Given the description of an element on the screen output the (x, y) to click on. 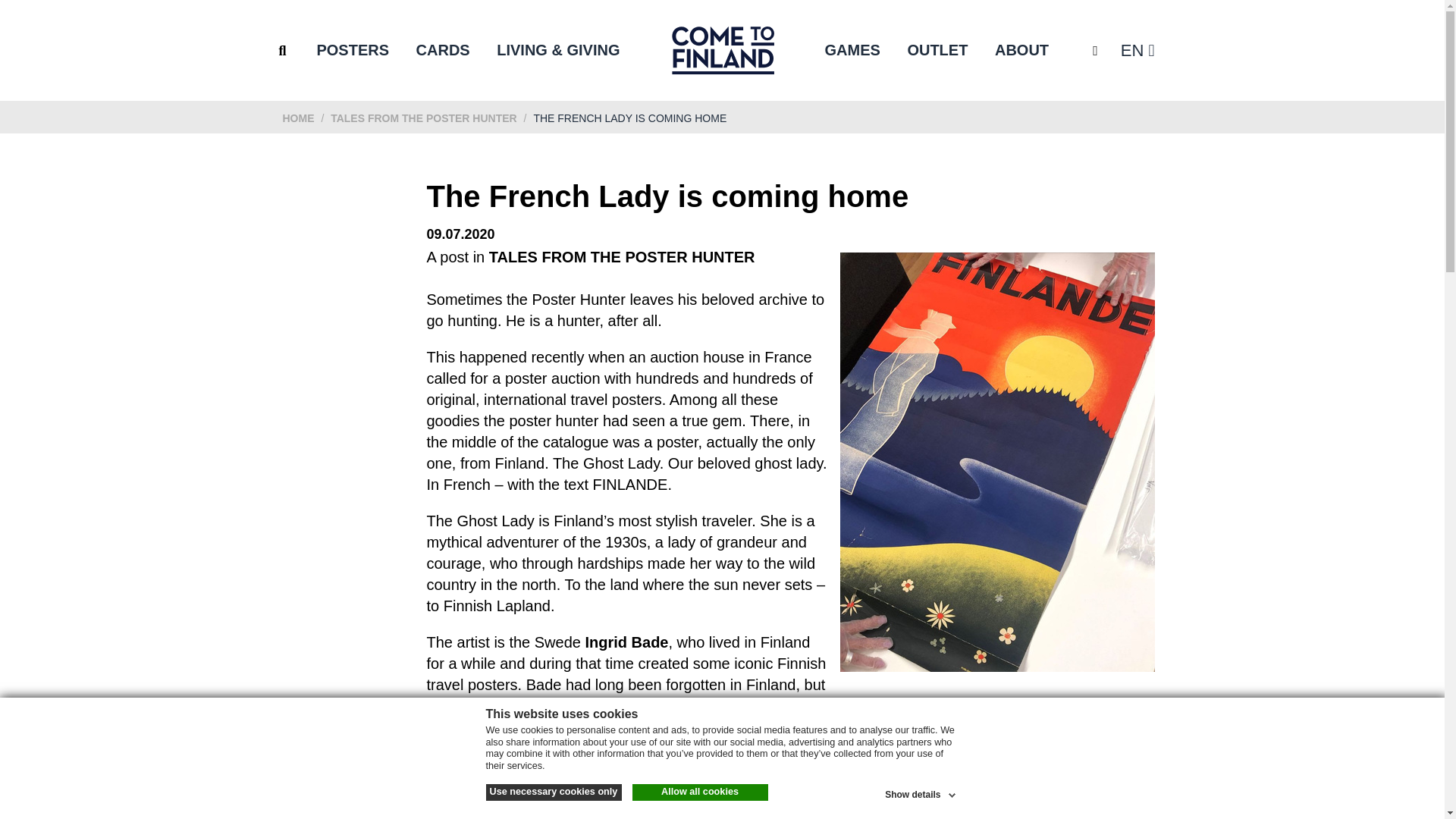
POSTERS (351, 49)
Show details (921, 791)
Use necessary cookies only (552, 791)
Allow all cookies (699, 791)
